Given the description of an element on the screen output the (x, y) to click on. 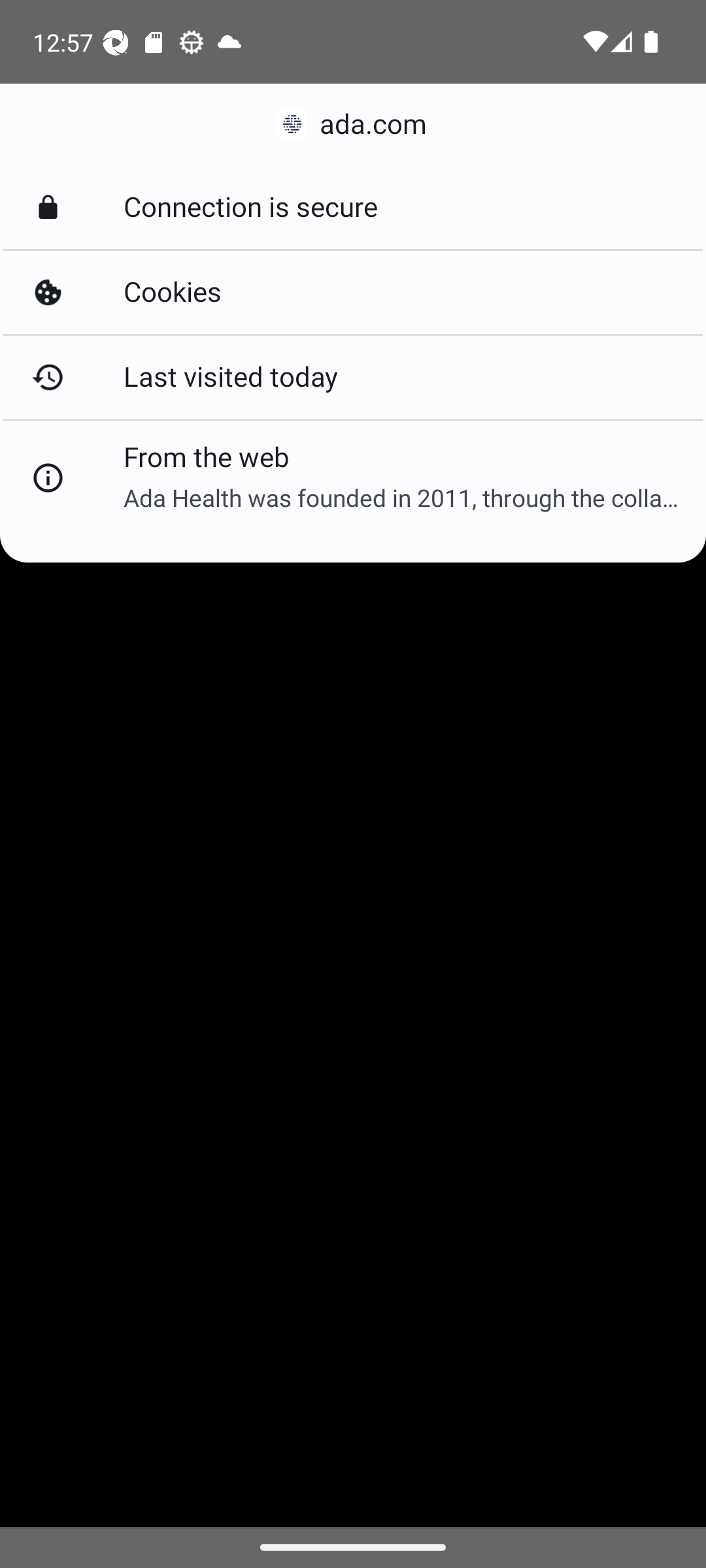
ada.com (353, 124)
Connection is secure (353, 207)
Cookies (353, 291)
Last visited today (353, 376)
